Given the description of an element on the screen output the (x, y) to click on. 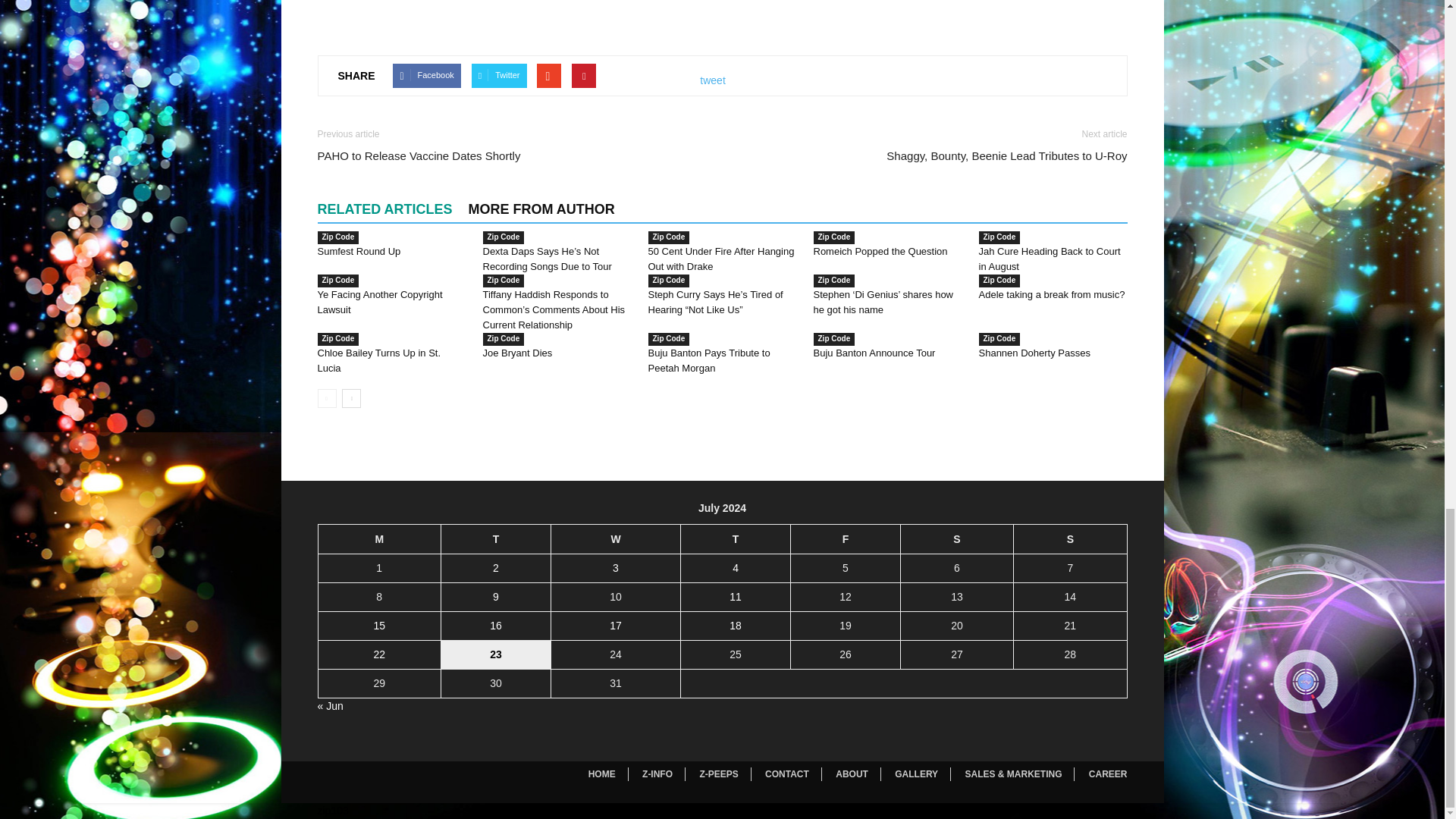
Sumfest Round Up (358, 251)
50 Cent Under Fire After Hanging Out with Drake (720, 258)
Romeich Popped the Question (879, 251)
